Given the description of an element on the screen output the (x, y) to click on. 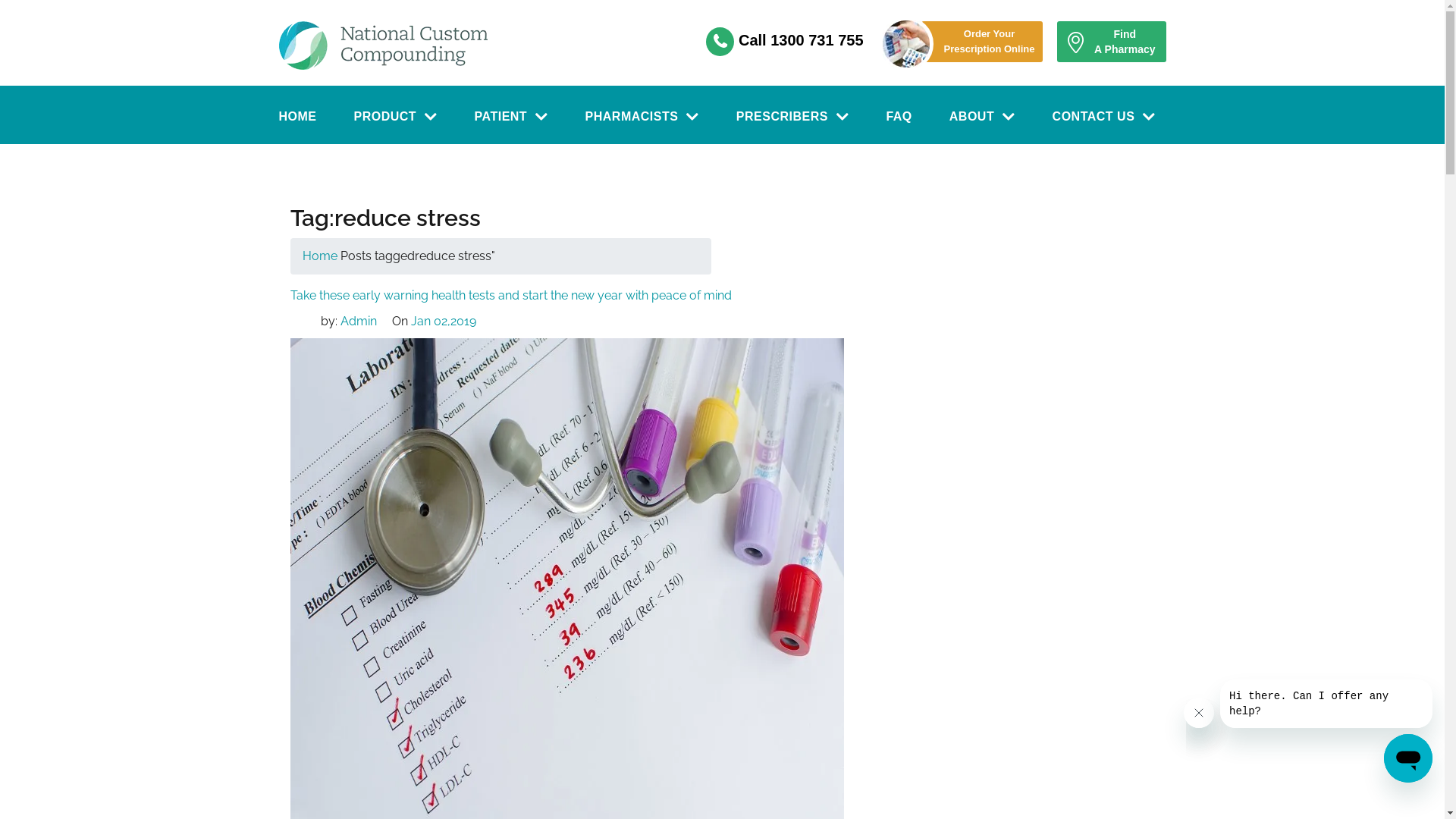
HOME Element type: text (297, 116)
PATIENT Element type: text (511, 116)
PHARMACISTS Element type: text (642, 116)
Order Your
Prescription Online Element type: text (987, 41)
Call 1300 731 755 Element type: text (800, 39)
PRODUCT Element type: text (394, 116)
Find
A Pharmacy Element type: text (1111, 41)
Button to launch messaging window Element type: hover (1407, 758)
CONTACT US Element type: text (1103, 116)
ABOUT Element type: text (982, 116)
Close message Element type: hover (1198, 712)
Admin Element type: text (357, 320)
Message from company Element type: hover (1326, 703)
Home Element type: text (318, 255)
Jan 02,2019 Element type: text (443, 320)
PRESCRIBERS Element type: text (792, 116)
FAQ Element type: text (898, 116)
